Given the description of an element on the screen output the (x, y) to click on. 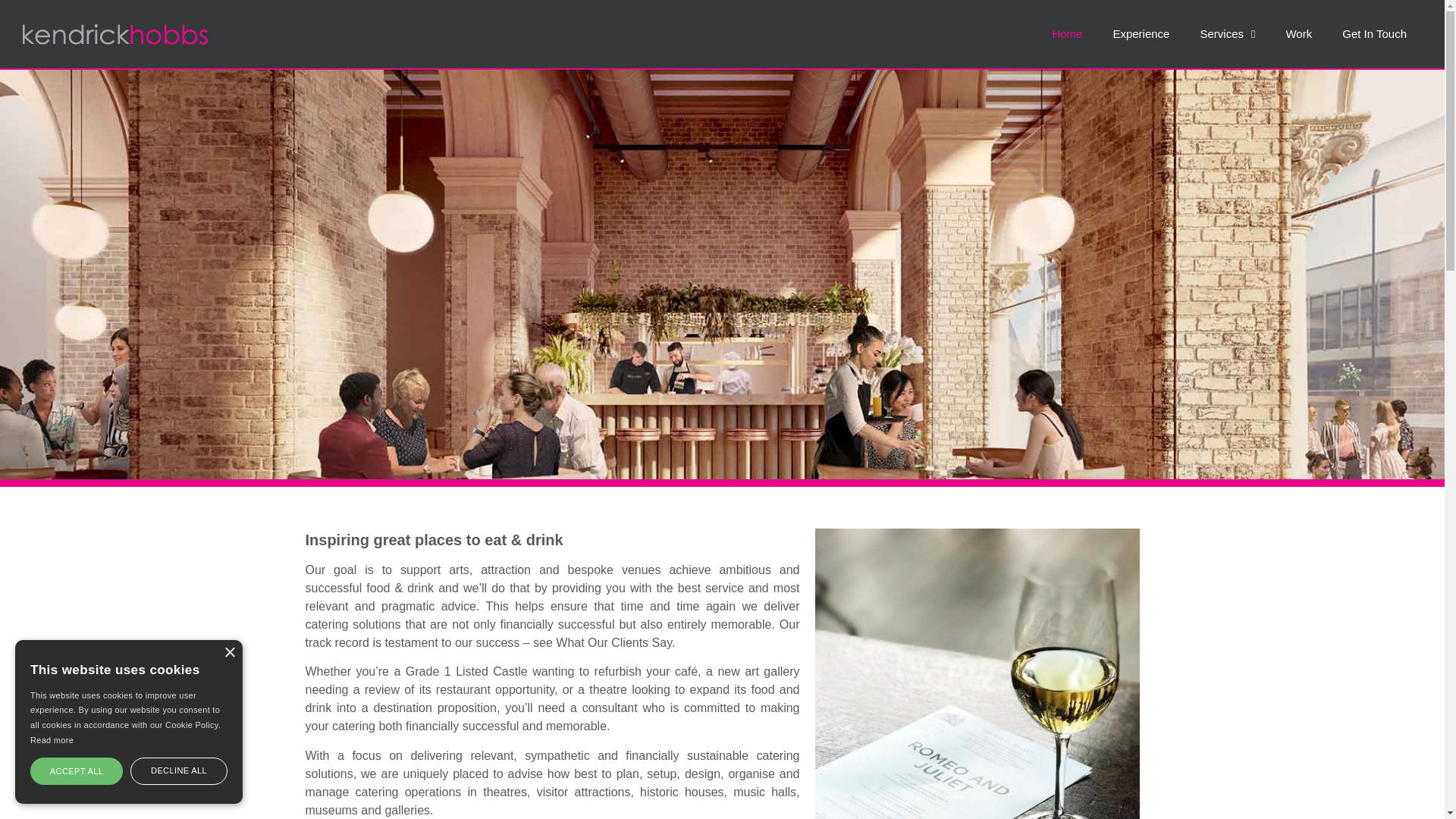
Get In Touch (1374, 33)
Services (1227, 33)
Read more (52, 739)
Home (1066, 33)
Experience (1141, 33)
Work (1297, 33)
